Given the description of an element on the screen output the (x, y) to click on. 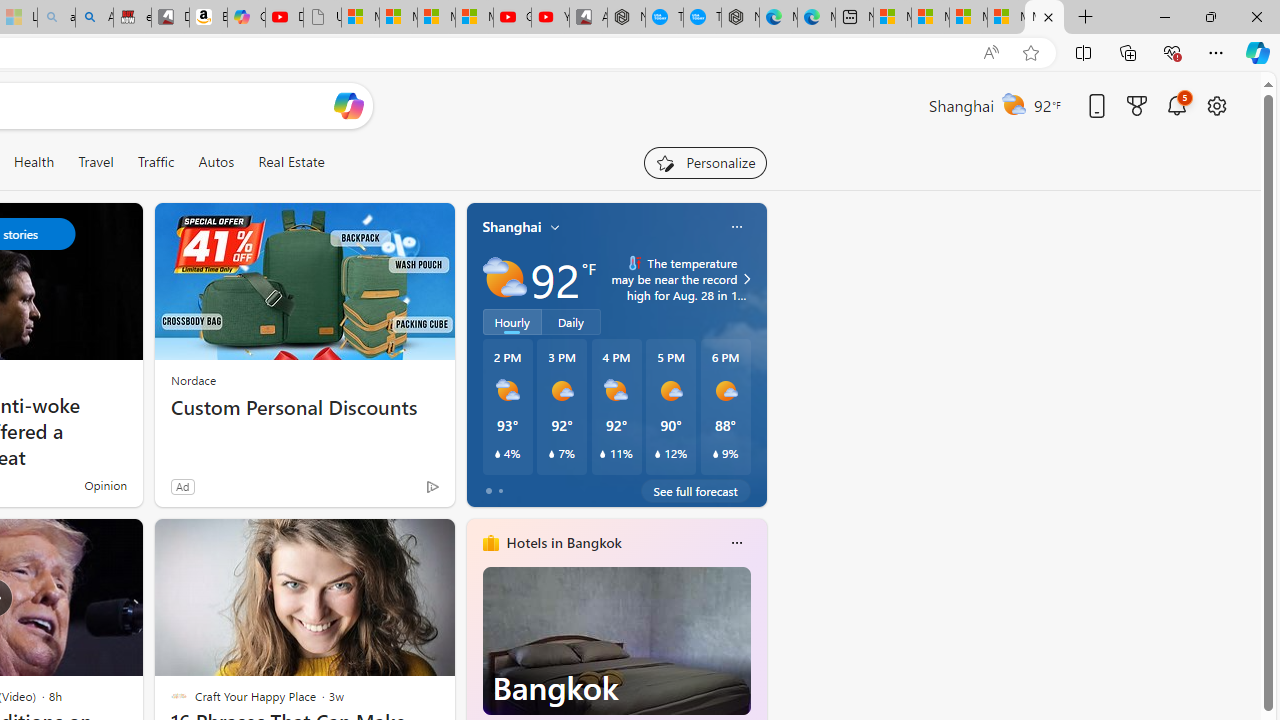
Partly sunny (504, 278)
Nordace - My Account (626, 17)
Class: weather-arrow-glyph (746, 278)
Partly sunny (504, 278)
See full forecast (695, 490)
